Given the description of an element on the screen output the (x, y) to click on. 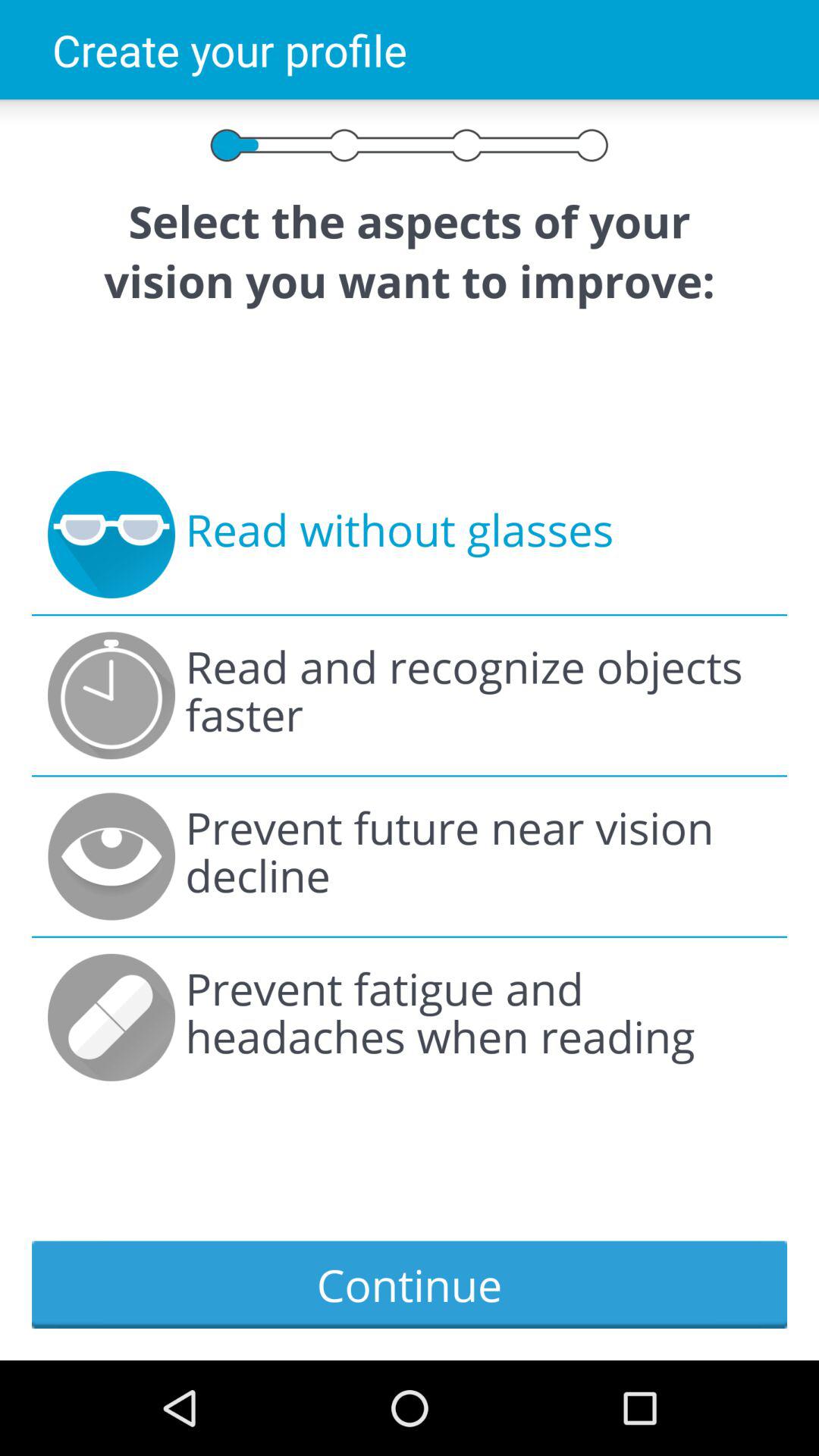
open the item below the read and recognize icon (478, 856)
